Given the description of an element on the screen output the (x, y) to click on. 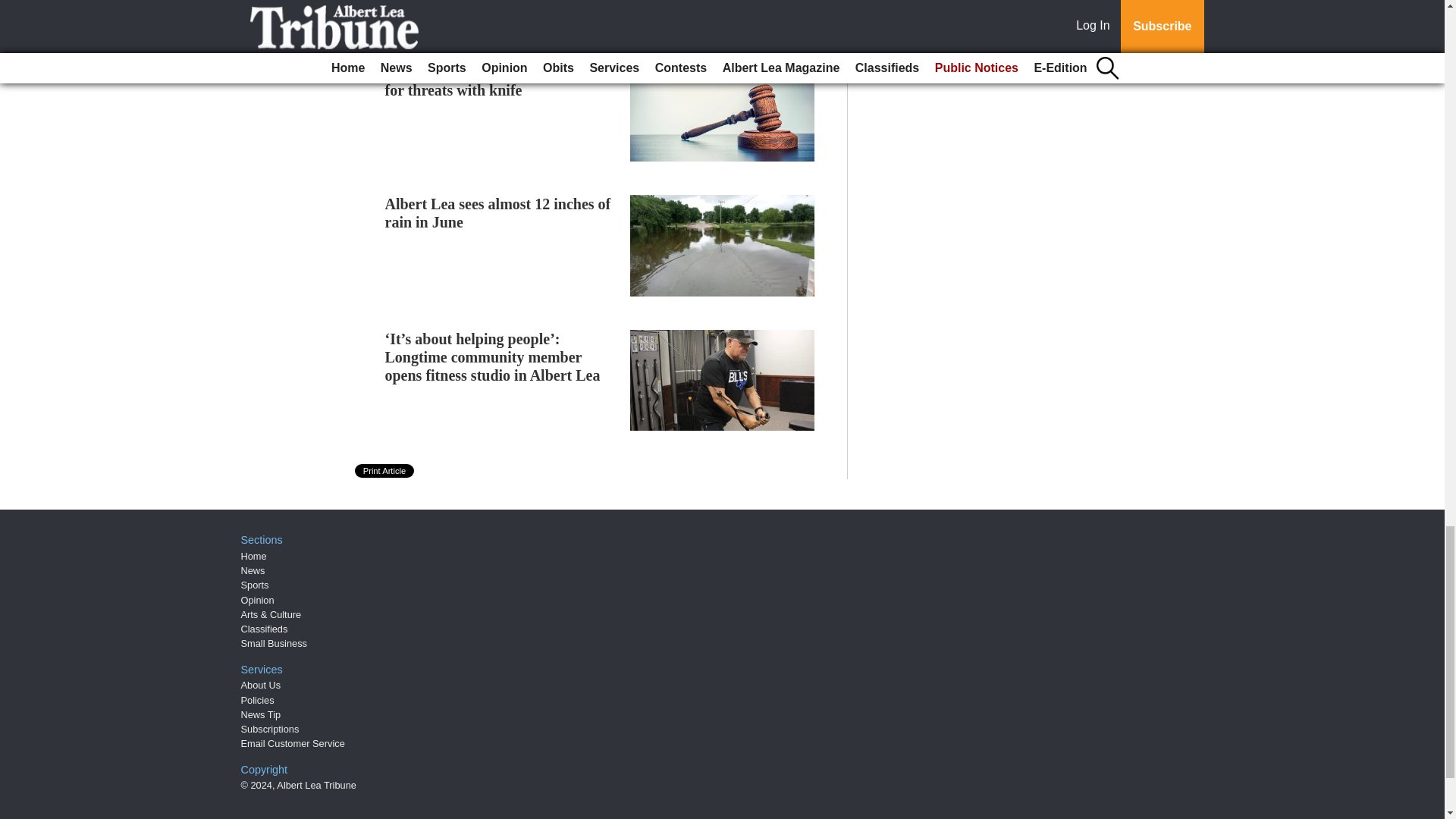
Albert Lea sees almost 12 inches of rain in June (498, 212)
Albert Lea man sentenced to prison for threats with knife (500, 80)
